Given the description of an element on the screen output the (x, y) to click on. 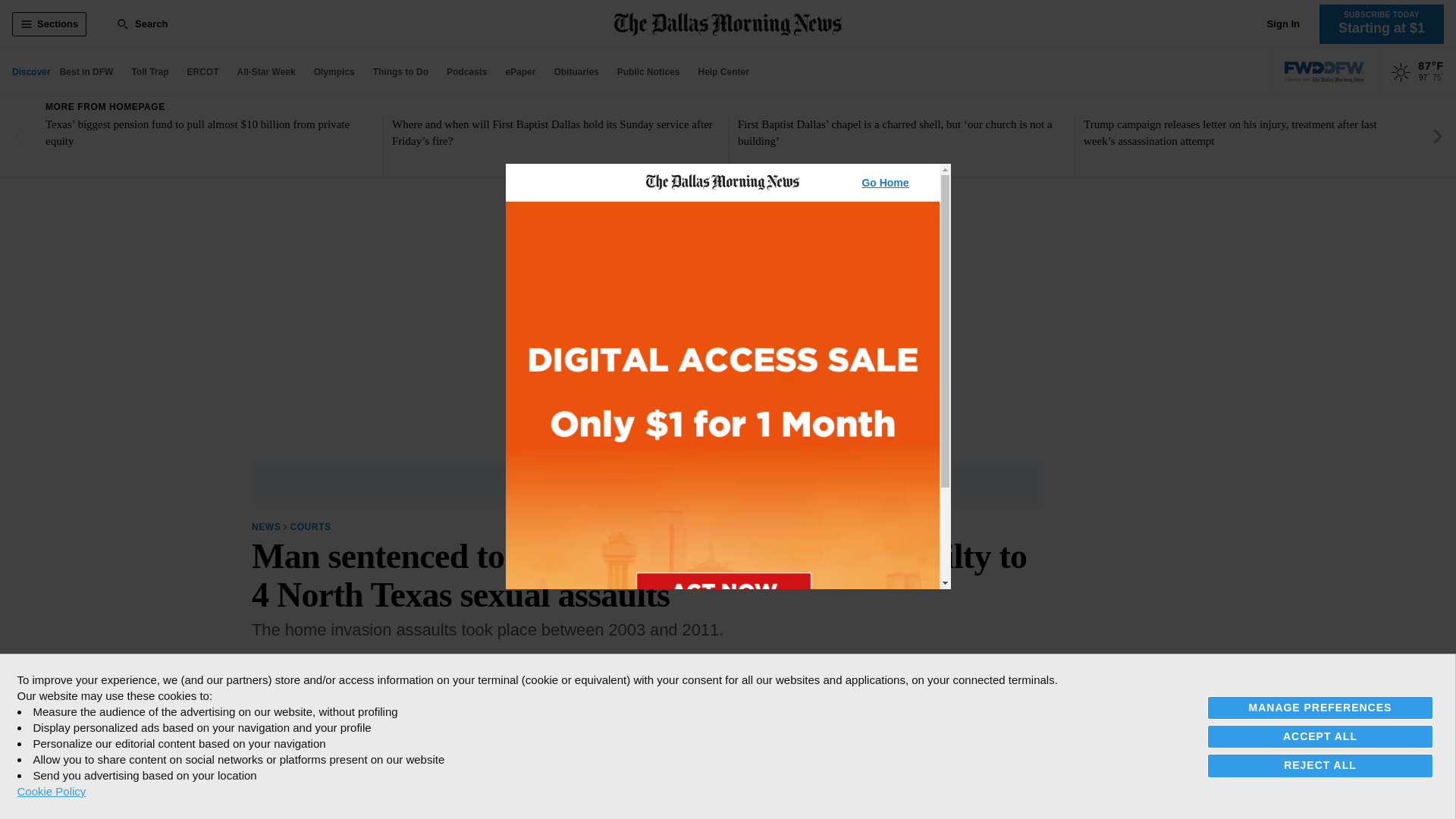
Clear sky (1400, 72)
REJECT ALL (1319, 765)
ACCEPT ALL (1319, 736)
MANAGE PREFERENCES (1319, 707)
FWD DFW, Together with The Dallas Morning News (1324, 72)
Cookie Policy (50, 790)
